Given the description of an element on the screen output the (x, y) to click on. 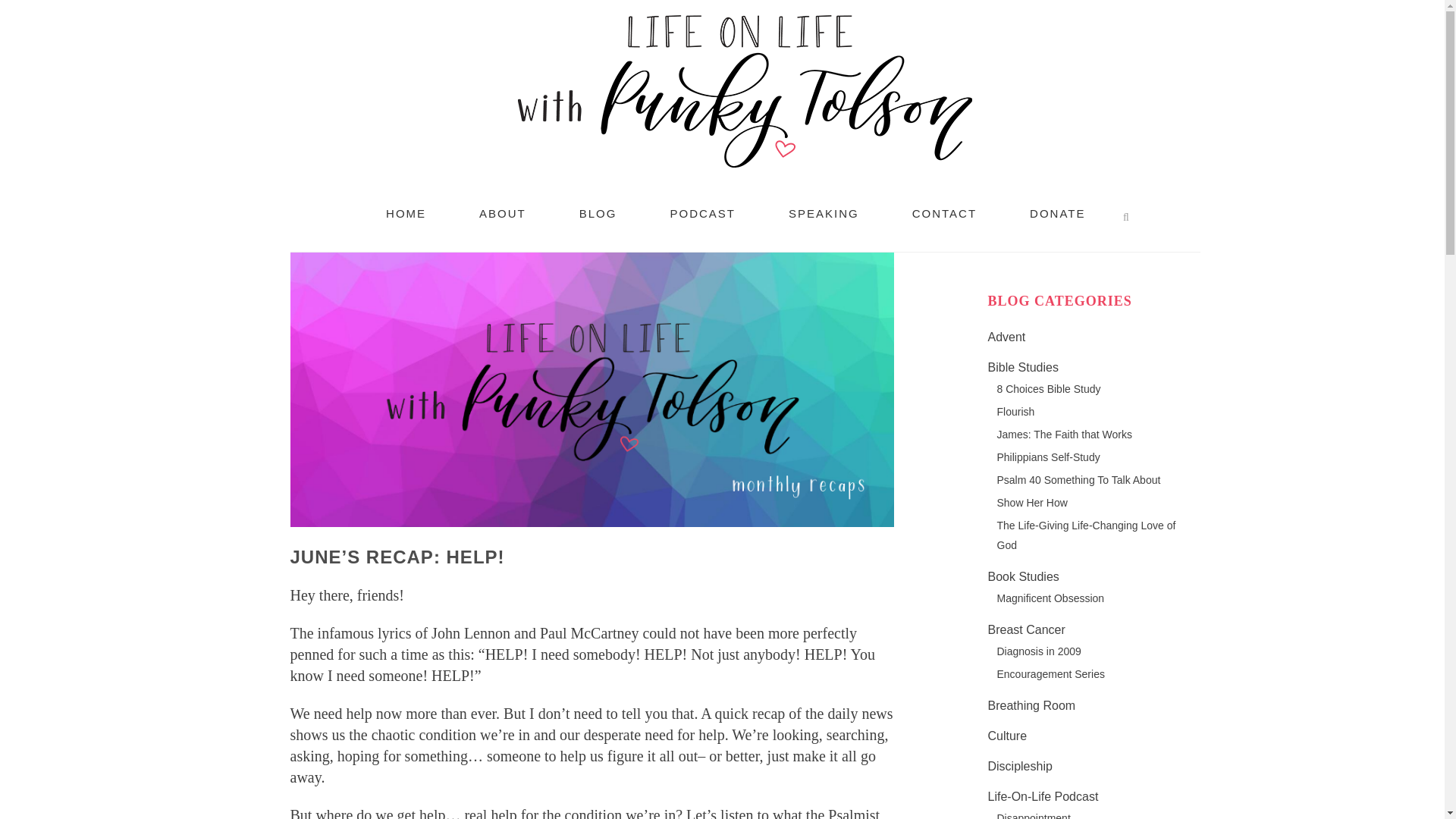
Life-On-Life Podcast (1042, 796)
HOME (405, 213)
James: The Faith that Works (1063, 434)
BLOG (598, 213)
The Life-Giving Life-Changing Love of God (1084, 535)
Encouragement Series (1049, 674)
Breast Cancer (1025, 629)
Disappointment (1032, 815)
8 Choices Bible Study (1047, 388)
Magnificent Obsession (1049, 598)
Advent (1006, 336)
CONTACT (944, 213)
Diagnosis in 2009 (1037, 651)
ABOUT (502, 213)
PODCAST (702, 213)
